Given the description of an element on the screen output the (x, y) to click on. 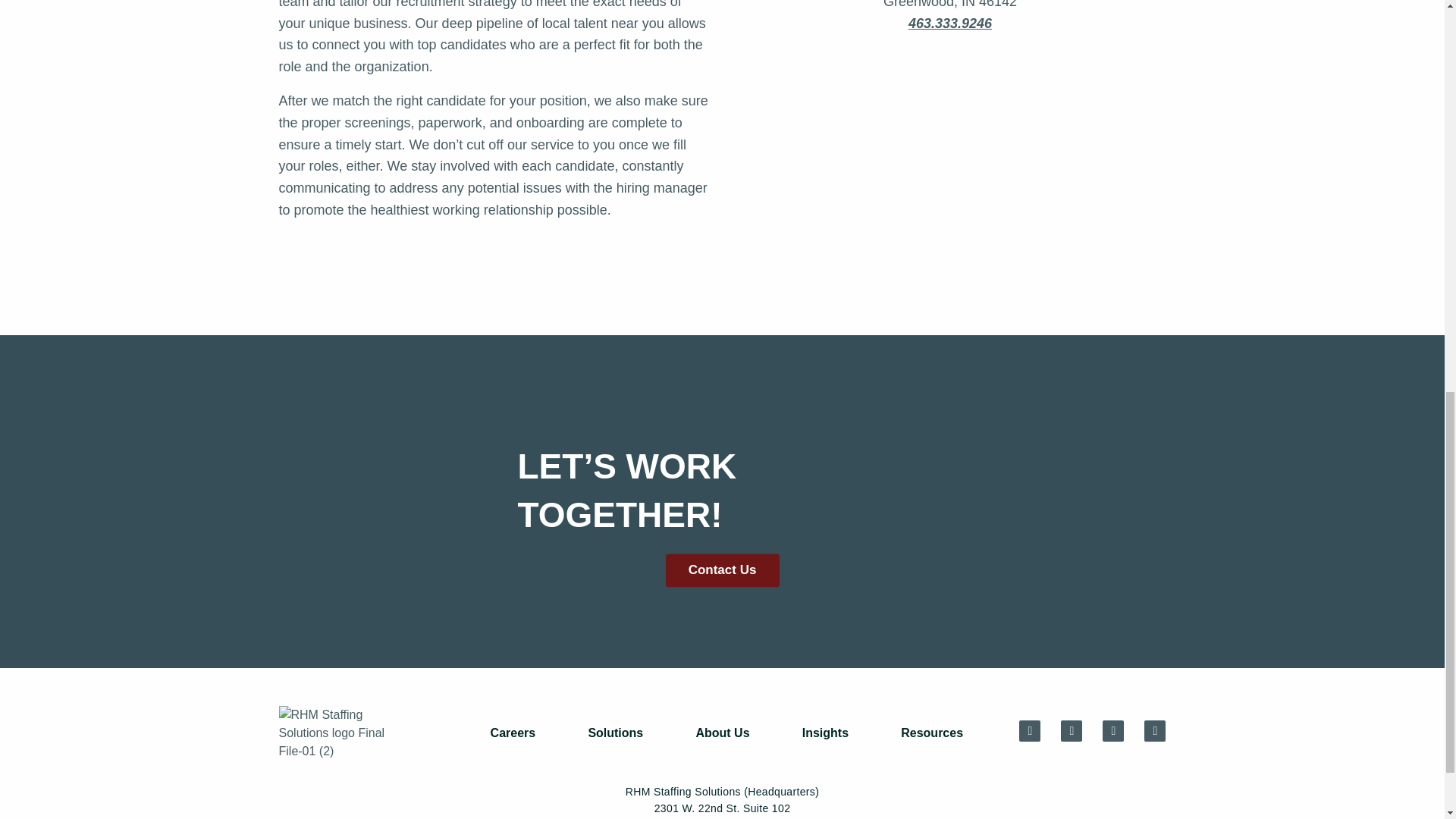
Careers (513, 732)
Contact Us (721, 570)
463.333.9246 (949, 23)
Resources (932, 732)
About Us (722, 732)
Insights (825, 732)
Solutions (614, 732)
